Given the description of an element on the screen output the (x, y) to click on. 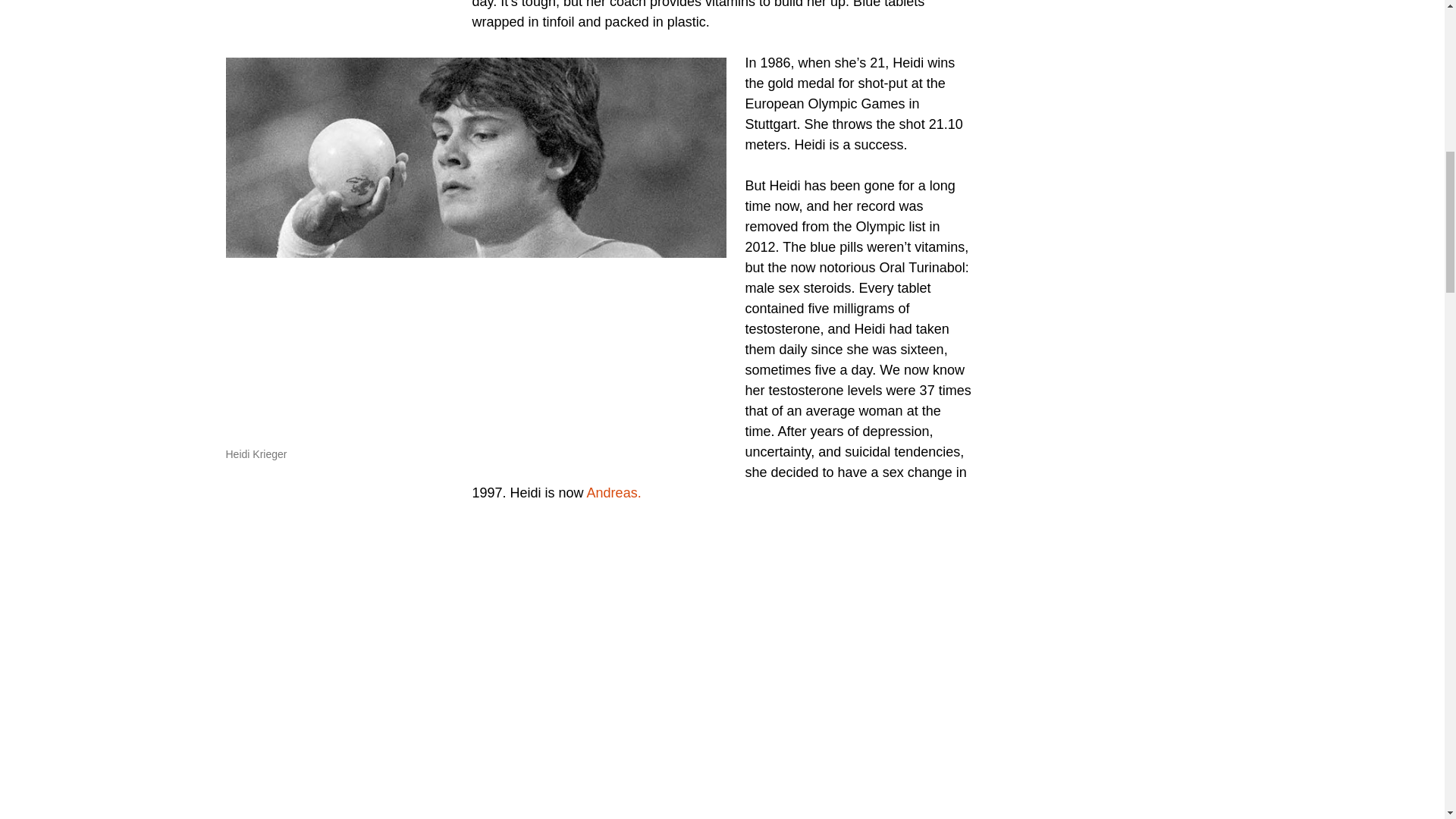
Andreas. (614, 492)
40 European Track and Field 1986 Heidi Krieger (660, 666)
